Given the description of an element on the screen output the (x, y) to click on. 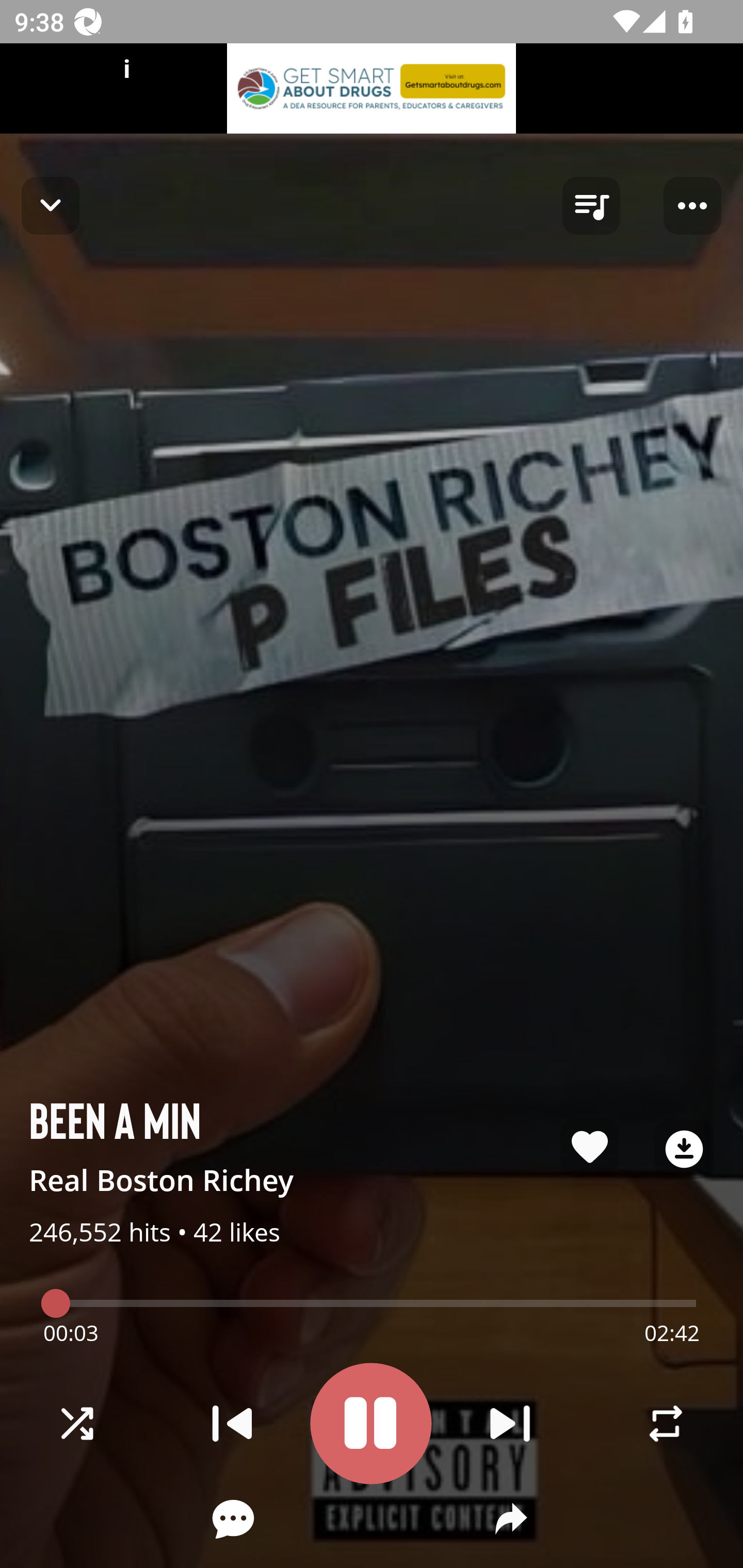
Navigate up (50, 205)
queue (590, 206)
Player options (692, 206)
